Given the description of an element on the screen output the (x, y) to click on. 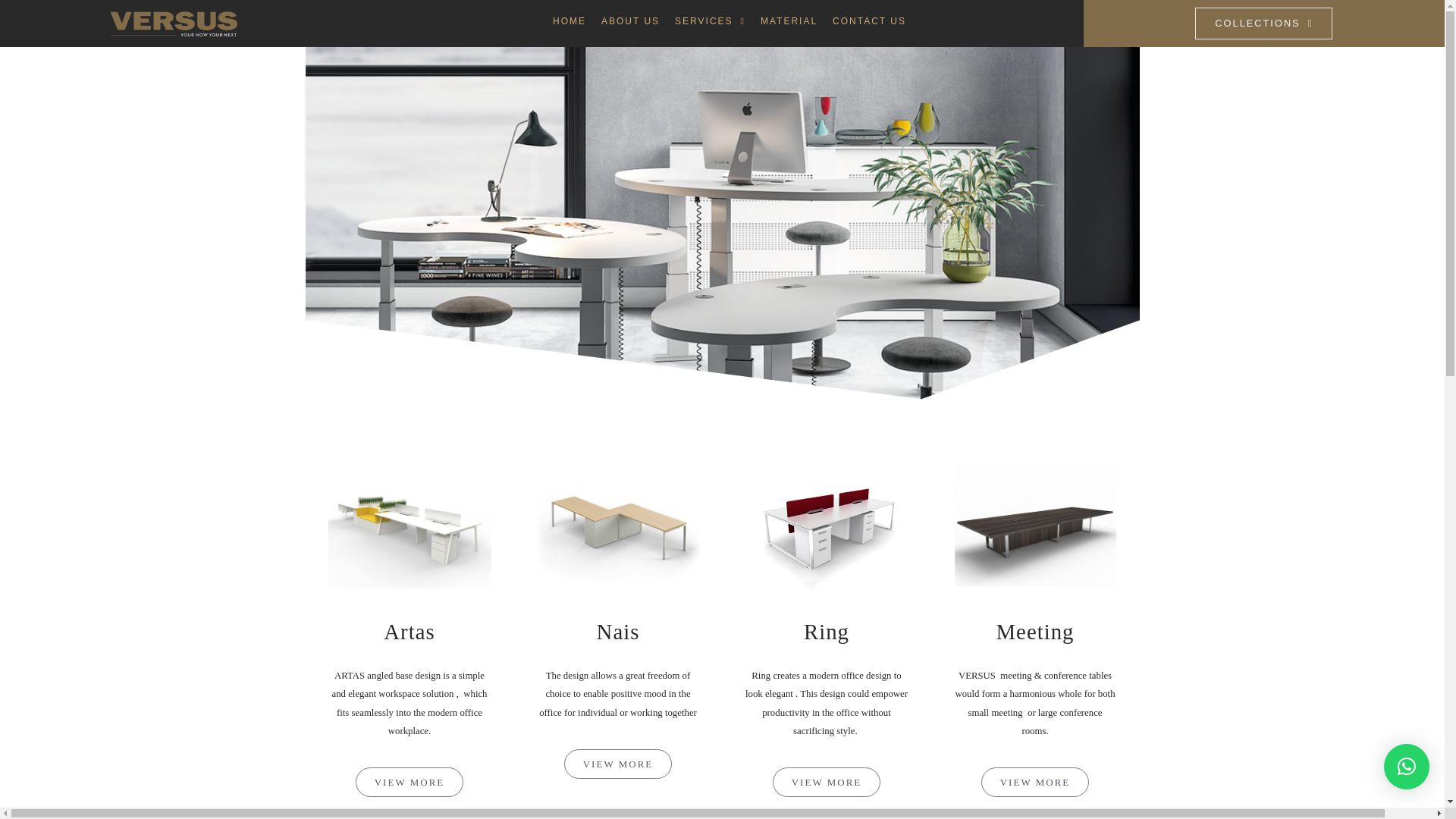
COLLECTIONS (1263, 23)
ABOUT US (630, 20)
SERVICES (709, 20)
MATERIAL (788, 20)
CONTACT US (869, 20)
HOME (569, 20)
